Given the description of an element on the screen output the (x, y) to click on. 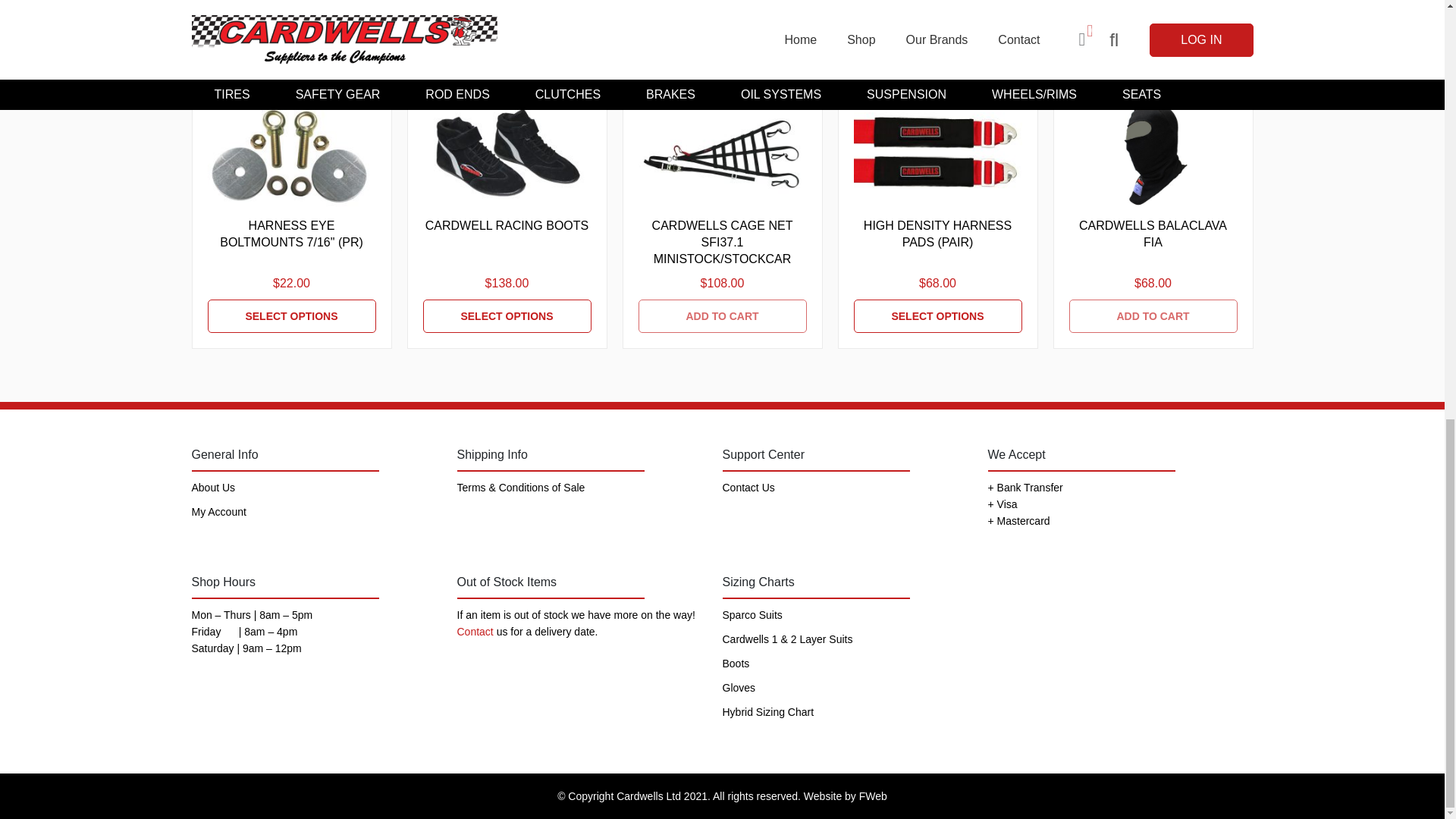
CARDWELLS BALACLAVA FIA (1152, 233)
Add to cart (722, 315)
CARDWELL RACING BOOTS (507, 152)
CARDWELL RACING BOOTS (507, 315)
CARDWELL RACING BOOTS (507, 225)
